Given the description of an element on the screen output the (x, y) to click on. 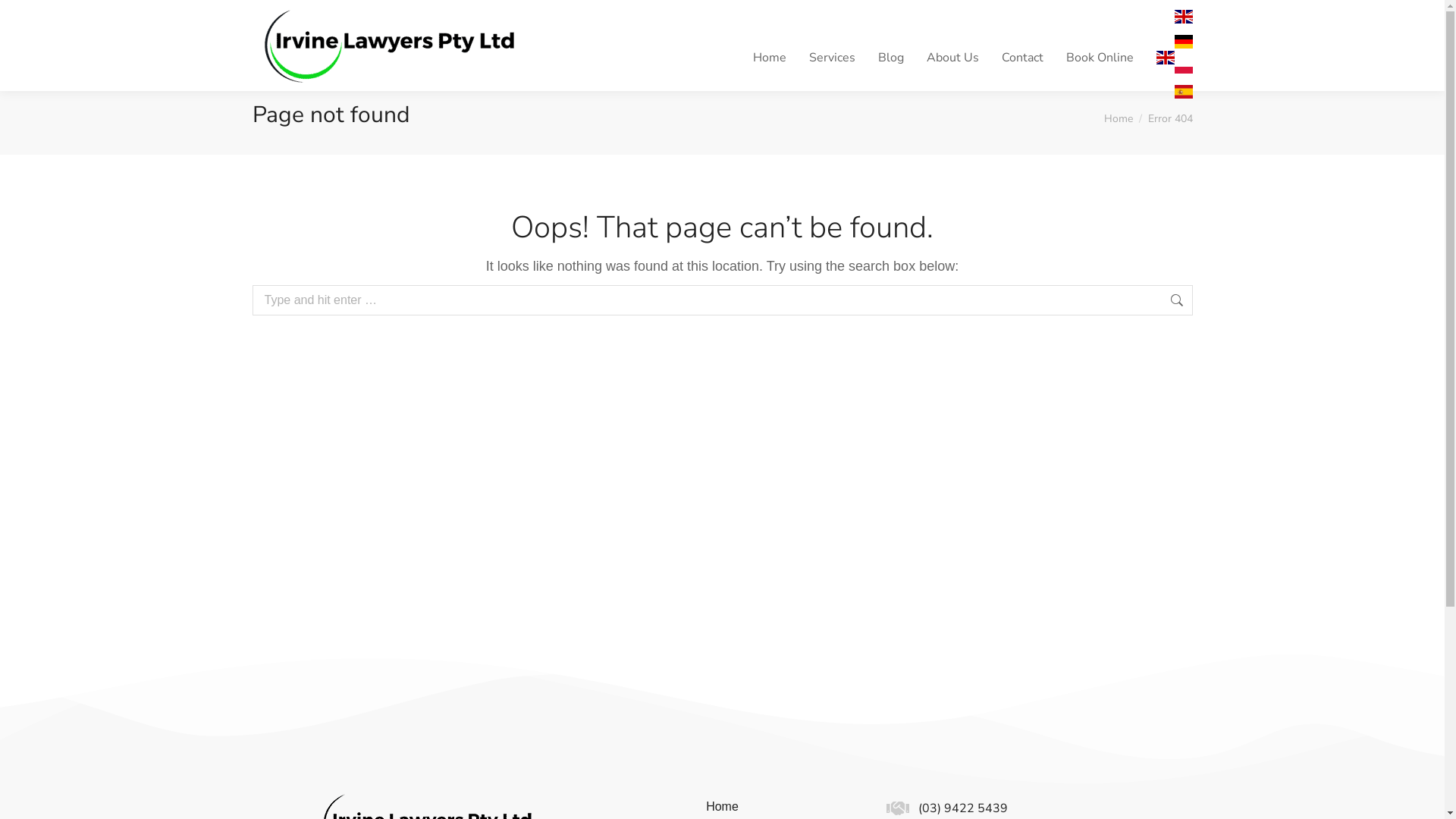
(03) 9422 5439 Element type: text (962, 808)
Home Element type: text (1118, 118)
Blog Element type: text (890, 57)
English Element type: hover (1164, 57)
Book Online Element type: text (1099, 57)
German Element type: hover (1182, 45)
Home Element type: text (768, 57)
Go! Element type: text (1215, 301)
Spanish Element type: hover (1182, 95)
English Element type: hover (1182, 20)
Services Element type: text (831, 57)
About Us Element type: text (952, 57)
Contact Element type: text (1021, 57)
Polish Element type: hover (1182, 70)
Home Element type: text (721, 806)
